Given the description of an element on the screen output the (x, y) to click on. 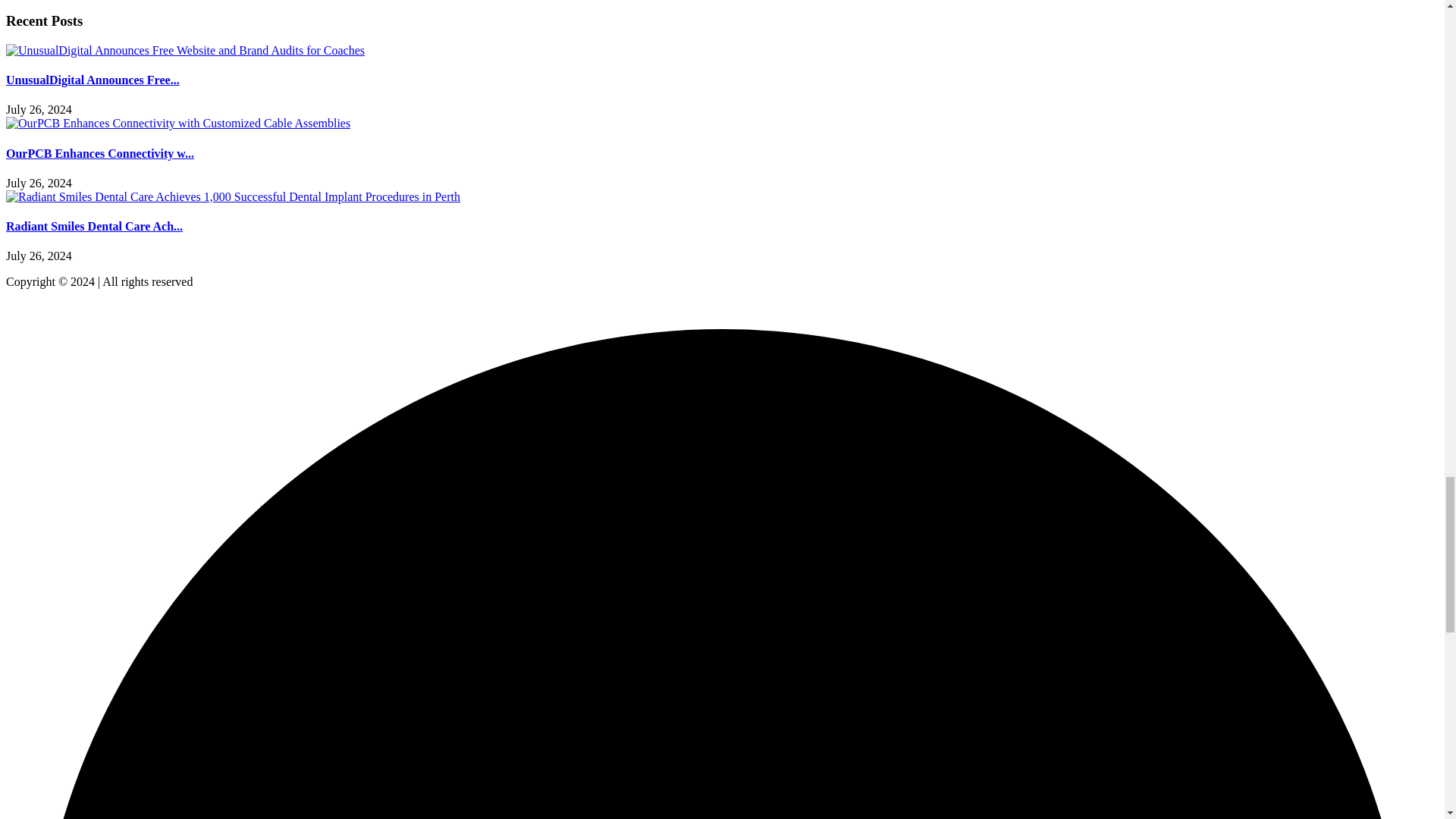
July 26, 2024 (38, 182)
UnusualDigital Announces Free... (92, 79)
OurPCB Enhances Connectivity w... (99, 153)
July 26, 2024 (38, 109)
